Given the description of an element on the screen output the (x, y) to click on. 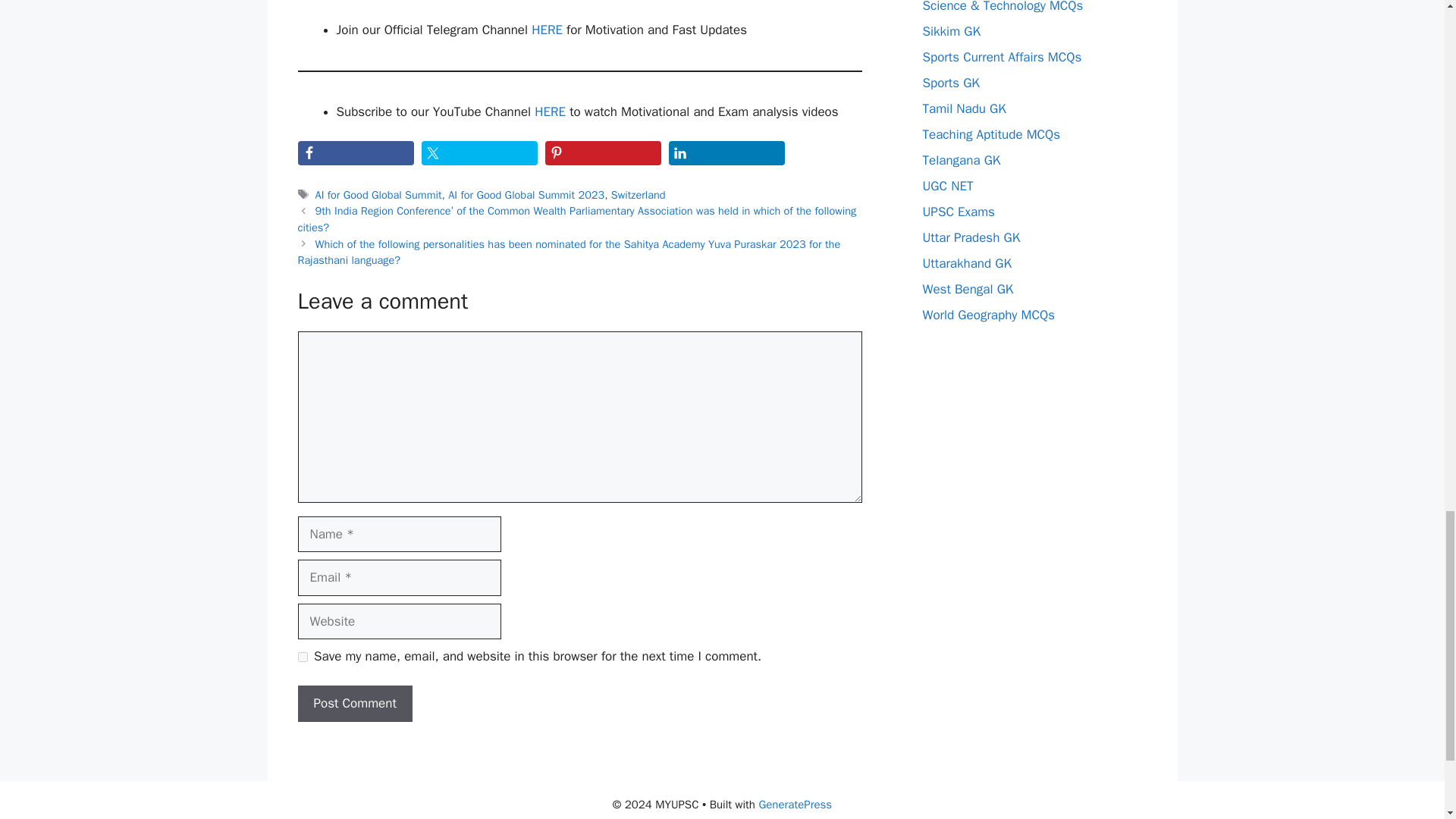
Share on Twitter (479, 152)
Share on Pinterest (602, 152)
Share on LinkedIn (726, 152)
HERE (546, 29)
Post Comment (354, 703)
HERE (550, 111)
Share on Facebook (355, 152)
yes (302, 656)
